Given the description of an element on the screen output the (x, y) to click on. 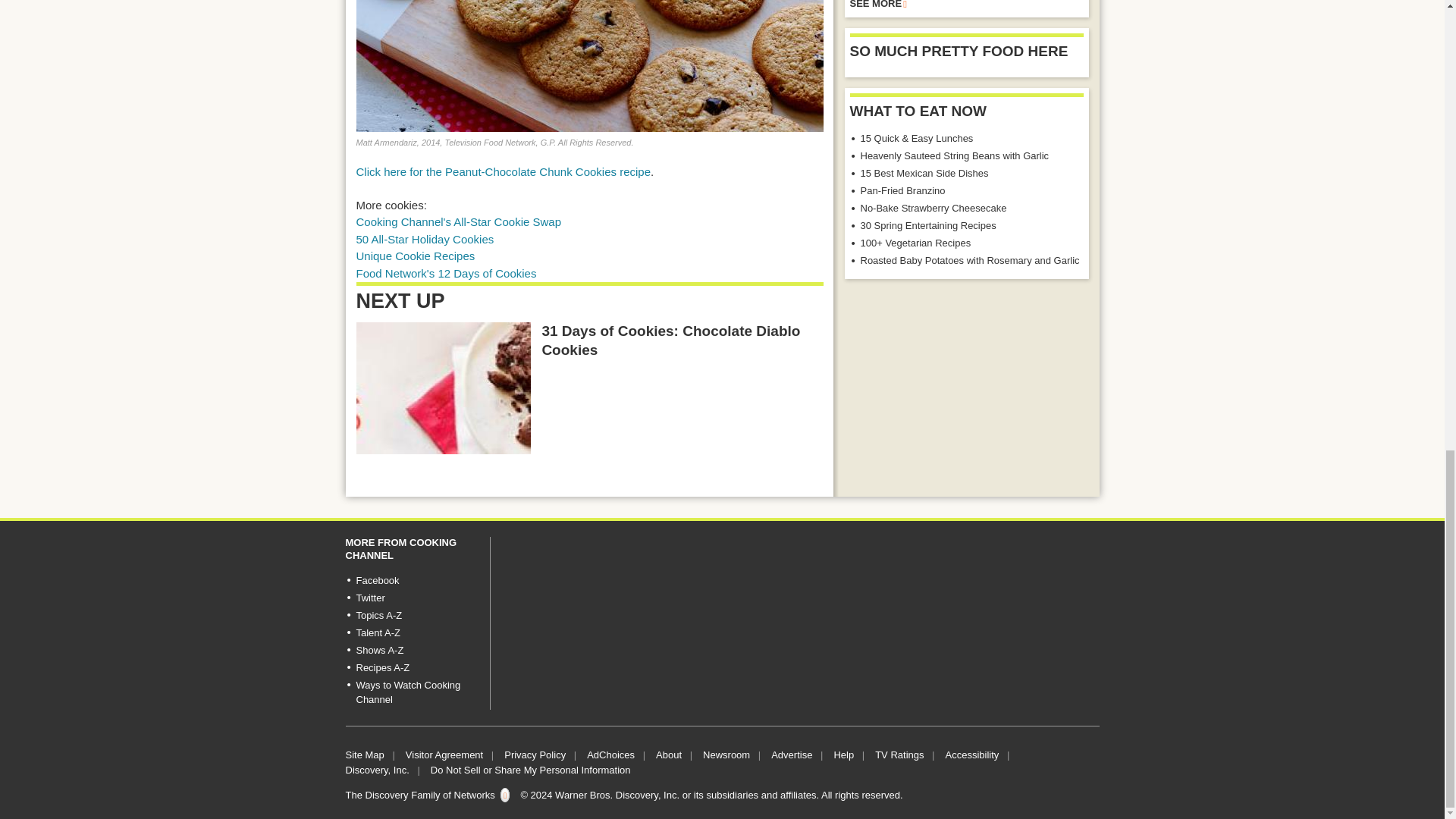
31 Days of Cookies: Chocolate Diablo Cookies (443, 388)
Cooking Channel's All-Star Cookie Swap (459, 221)
Click here for the Peanut-Chocolate Chunk Cookies recipe (503, 171)
All-Star Cookies (425, 238)
Cooking Channel (459, 221)
Food Network (446, 273)
50 All-Star Holiday Cookies (425, 238)
Holiday Cookies Outside the Box (416, 255)
